Given the description of an element on the screen output the (x, y) to click on. 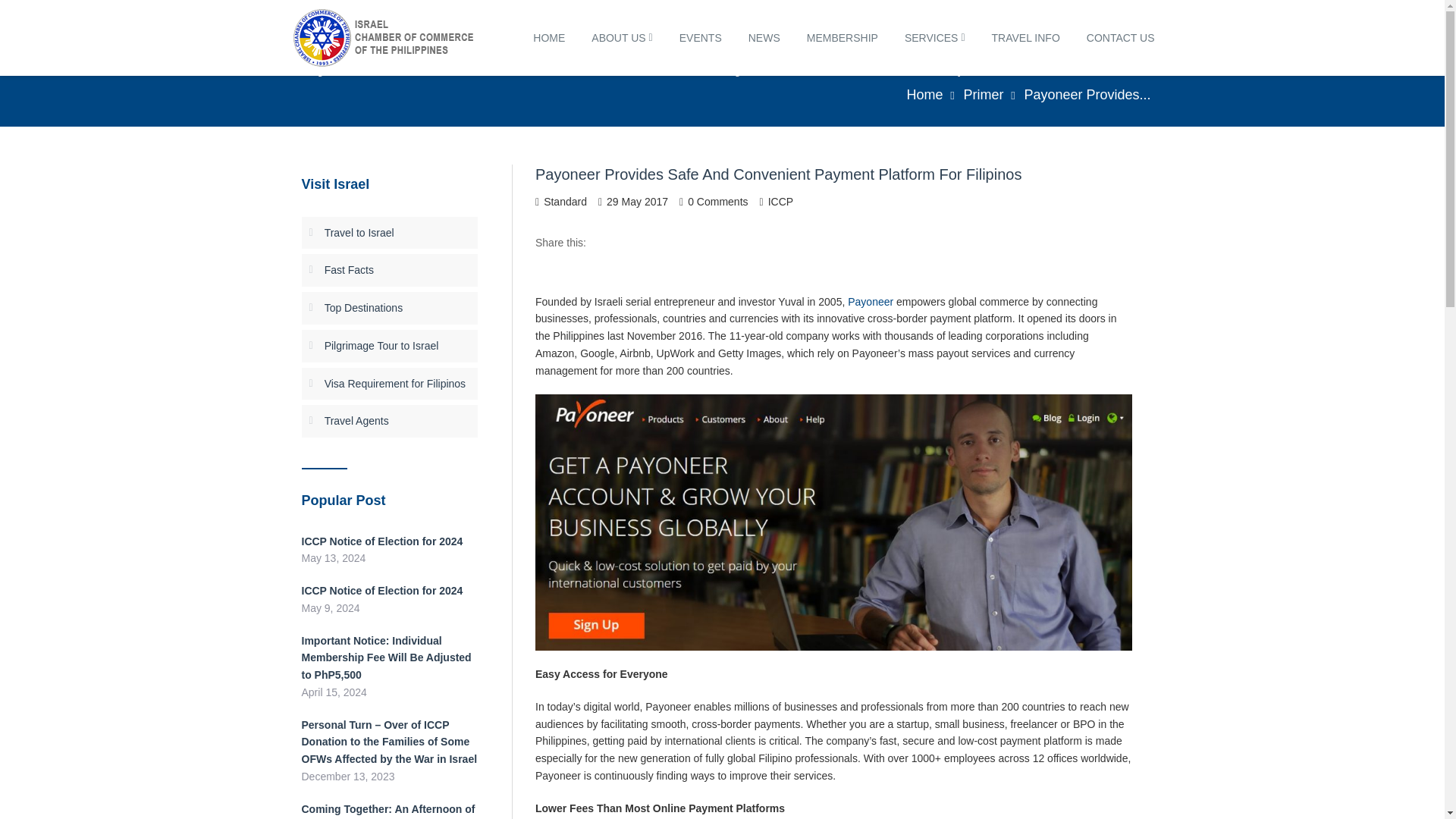
Visa Requirement for Filipinos (394, 383)
Travel Agents (356, 420)
Top Destinations (363, 307)
Primer (982, 94)
MEMBERSHIP (841, 38)
Home (923, 94)
Pilgrimage Tour to Israel (381, 345)
Travel to Israel (359, 232)
Fast Facts (349, 269)
